Given the description of an element on the screen output the (x, y) to click on. 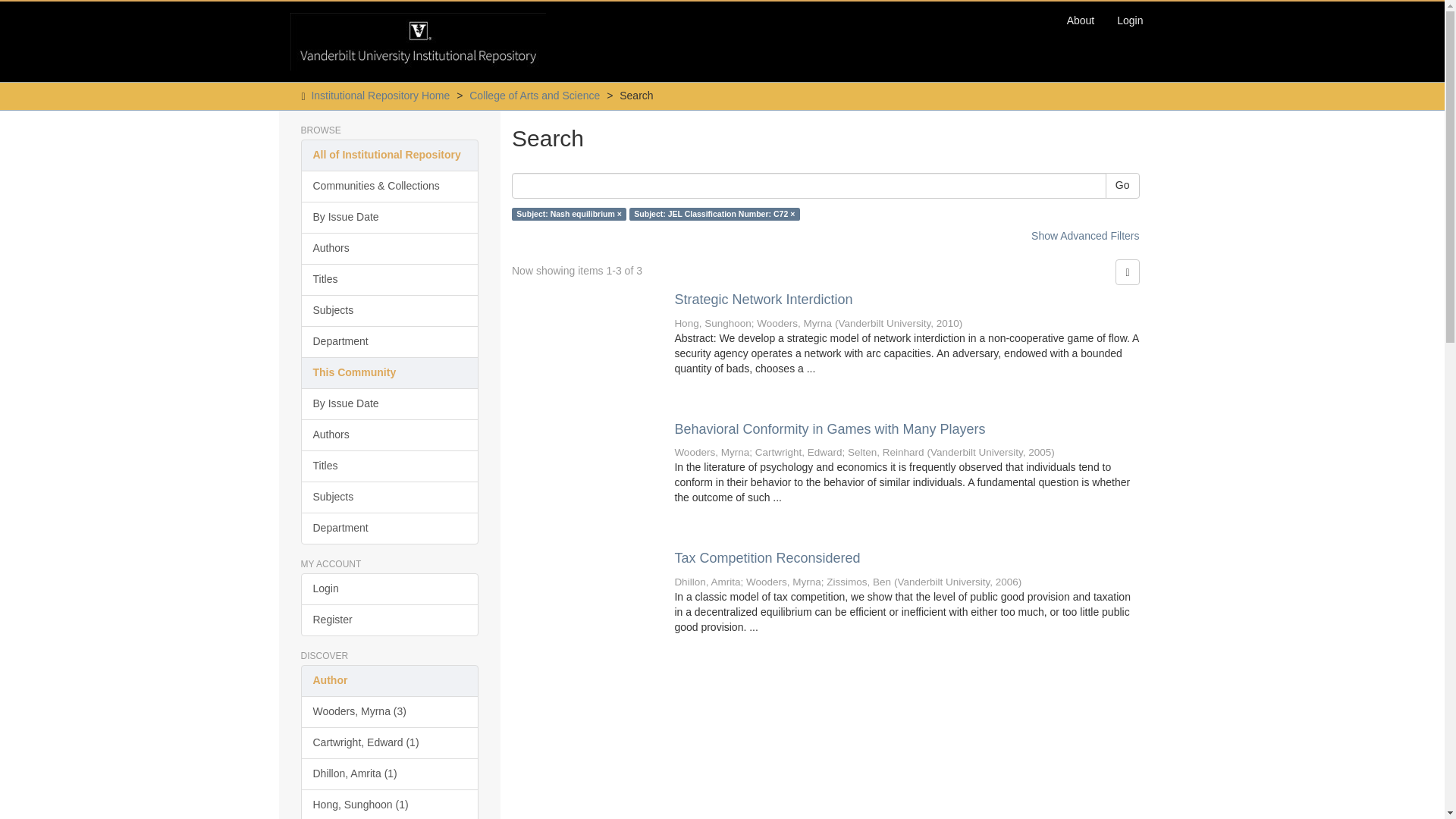
Subjects (389, 310)
Login (1129, 20)
About (1080, 20)
This Community (389, 373)
Institutional Repository Home (380, 95)
Titles (389, 279)
Author (389, 680)
Authors (389, 435)
Department (389, 528)
Register (389, 620)
